Given the description of an element on the screen output the (x, y) to click on. 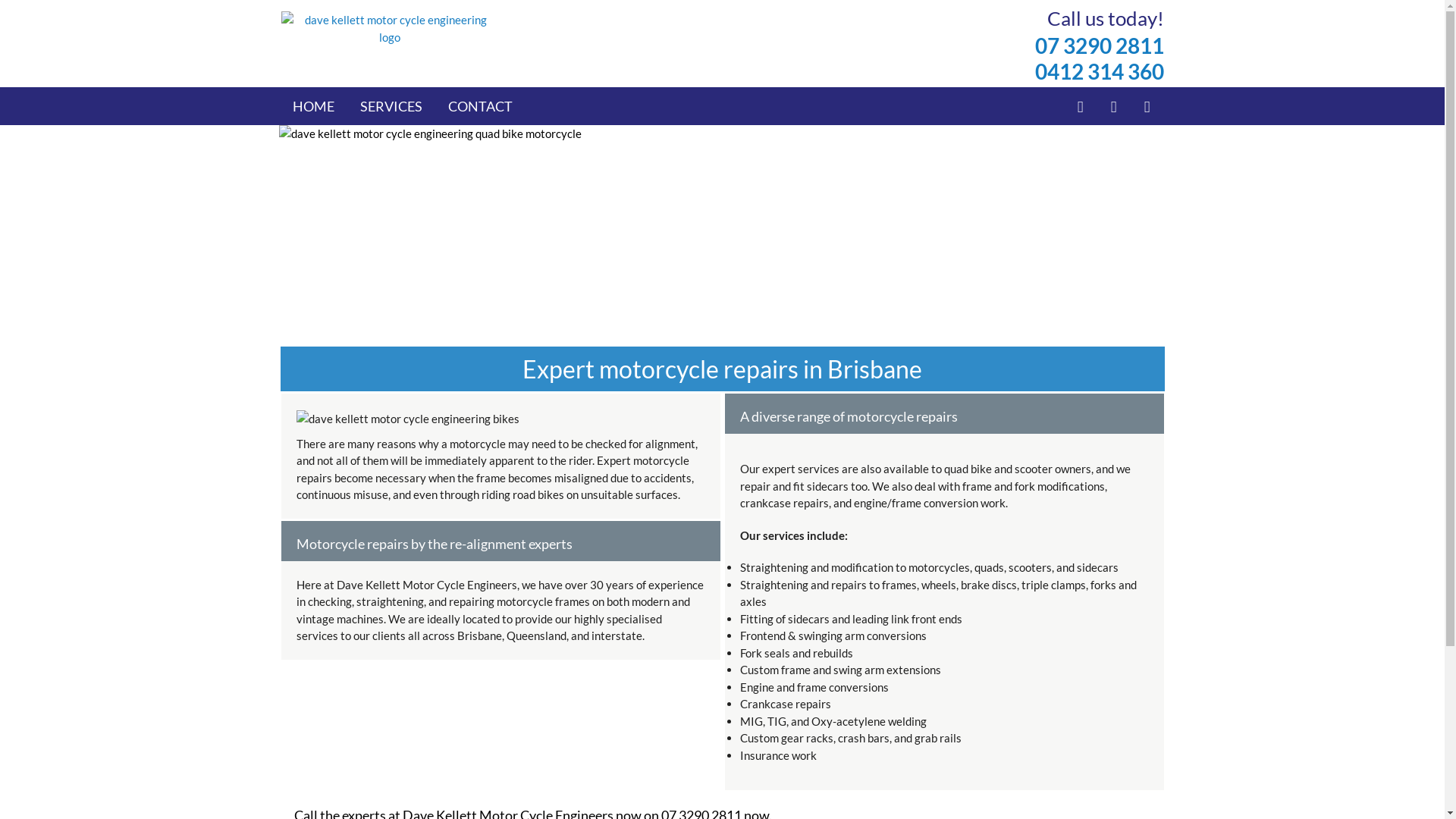
dave kellett motor cycle engineering logo Element type: hover (389, 28)
SERVICES Element type: text (390, 105)
HOME Element type: text (313, 105)
07 3290 2811 Element type: text (1098, 45)
dave kellett motor cycle engineering bikes Element type: hover (495, 418)
0412 314 360 Element type: text (1098, 71)
dave kellett motor cycle engineering quad bike motorcycle Element type: hover (722, 236)
CONTACT Element type: text (479, 105)
